Given the description of an element on the screen output the (x, y) to click on. 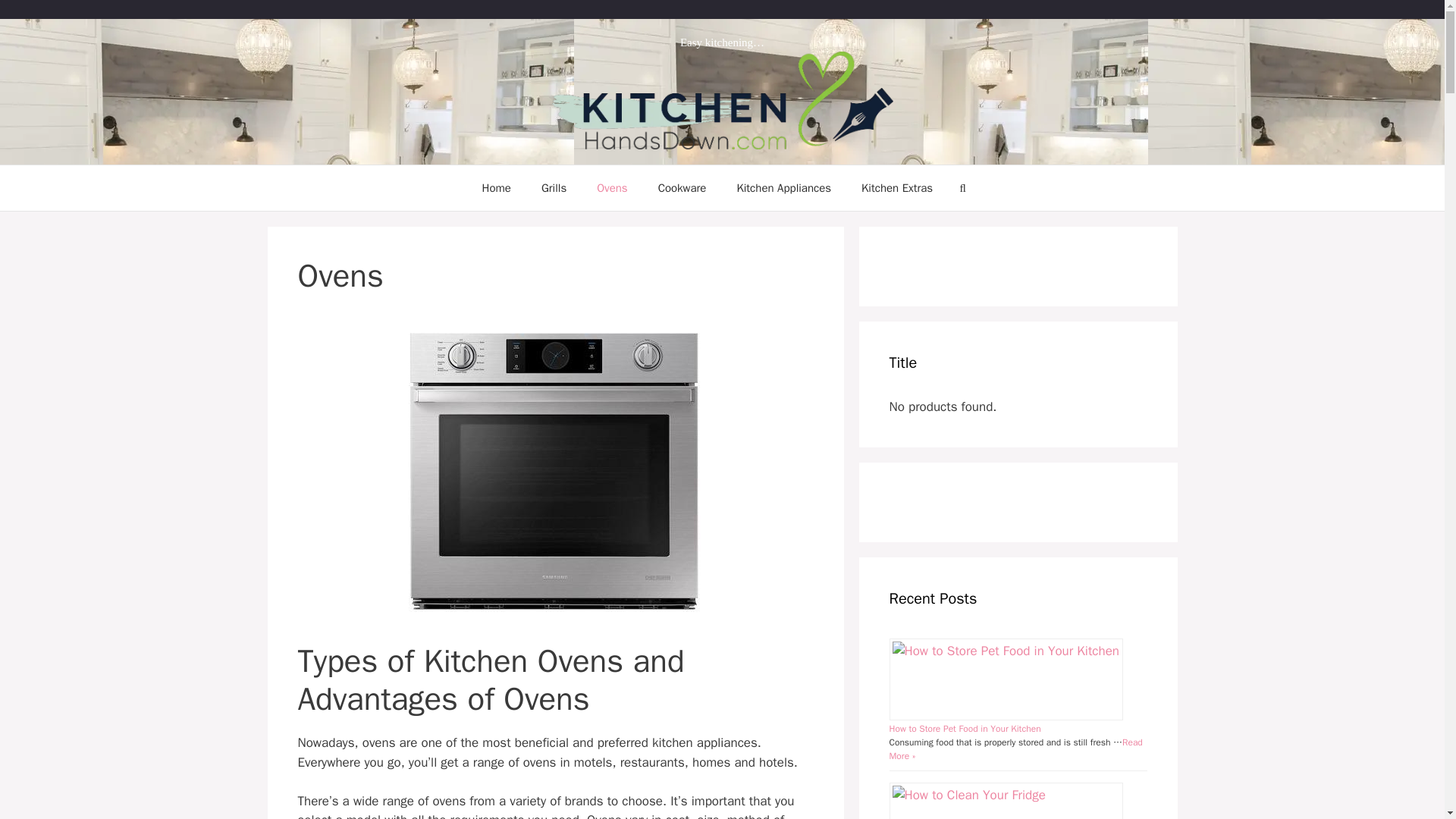
Ovens (611, 187)
Grills (552, 187)
Cookware (682, 187)
How to Store Pet Food in Your Kitchen (964, 728)
Home (496, 187)
Kitchen Appliances (782, 187)
Kitchen Extras (896, 187)
